Given the description of an element on the screen output the (x, y) to click on. 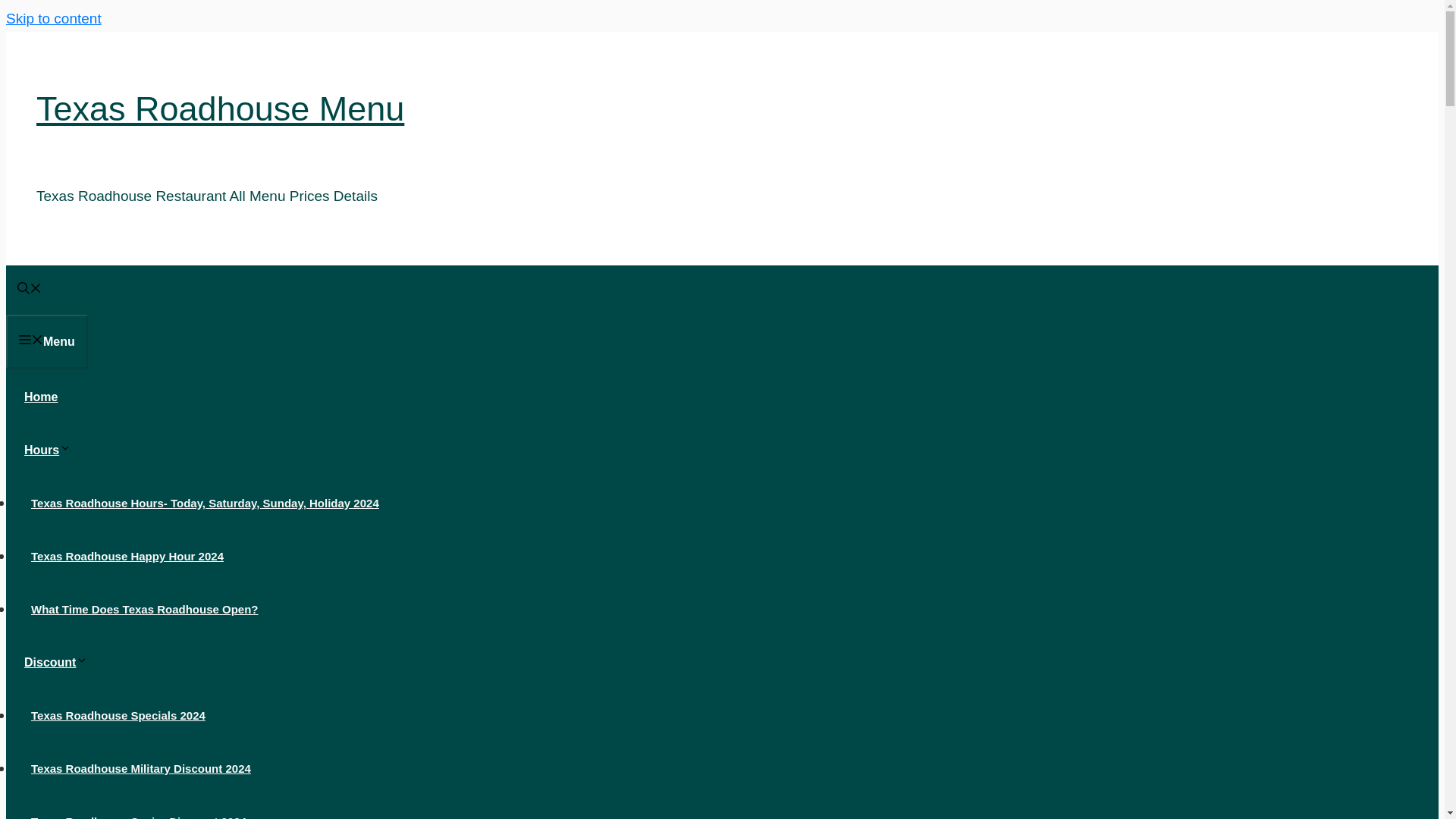
Texas Roadhouse Menu (220, 108)
Texas Roadhouse Specials 2024 (118, 715)
Texas Roadhouse Happy Hour 2024 (127, 556)
Discount (61, 662)
Hours (53, 449)
Skip to content (53, 18)
Texas Roadhouse Senior Discount 2024 (138, 813)
Home (40, 396)
Skip to content (53, 18)
Texas Roadhouse Hours- Today, Saturday, Sunday, Holiday 2024 (205, 502)
Menu (46, 341)
Texas Roadhouse Military Discount 2024 (141, 768)
What Time Does Texas Roadhouse Open? (144, 609)
